Given the description of an element on the screen output the (x, y) to click on. 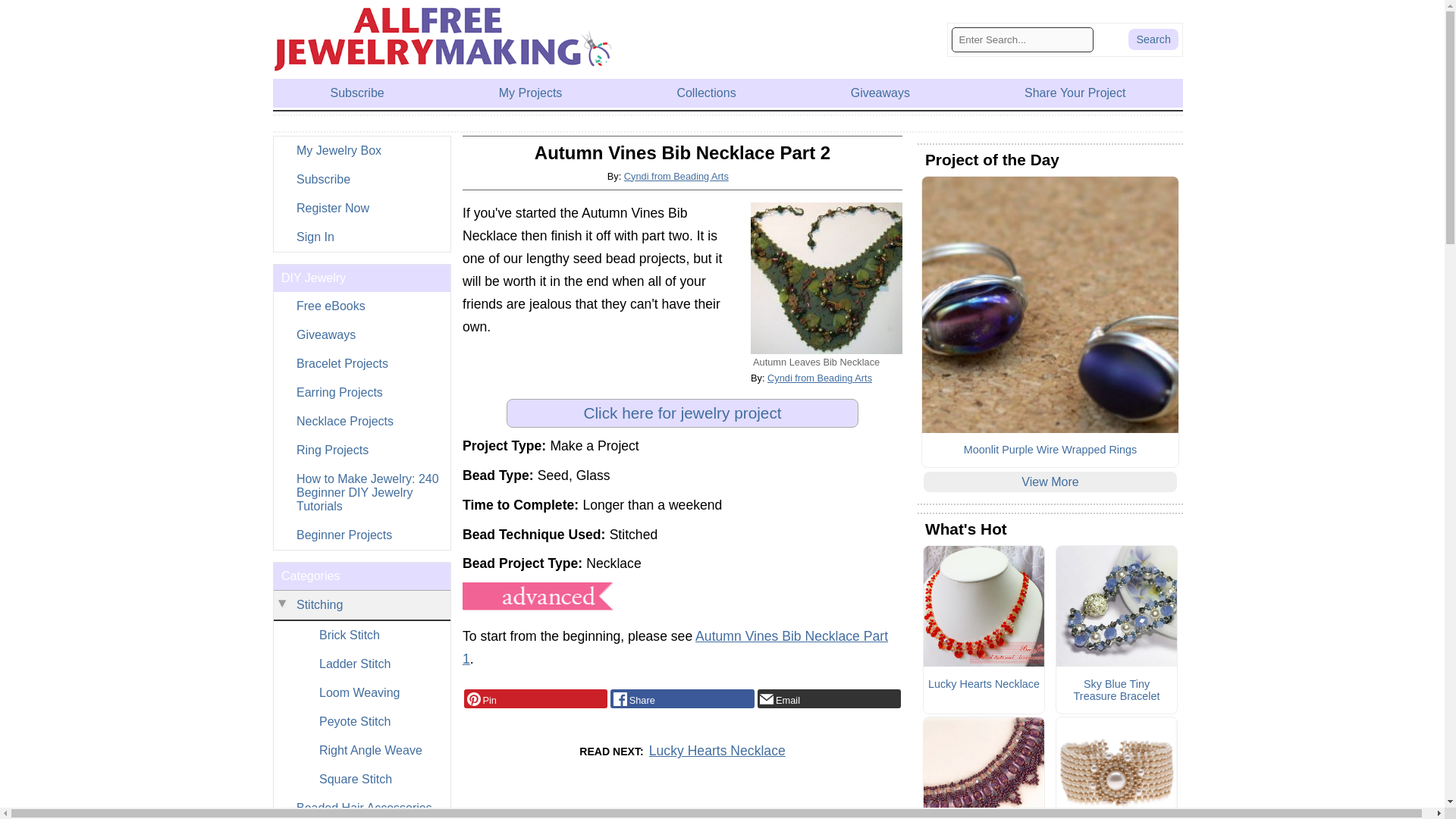
Register Now (361, 208)
Sign In (361, 236)
Email (829, 699)
Facebook (682, 699)
Autumn Leaves Bib Necklace (826, 277)
Subscribe (361, 179)
My Jewelry Box (361, 150)
Search (1152, 38)
